Given the description of an element on the screen output the (x, y) to click on. 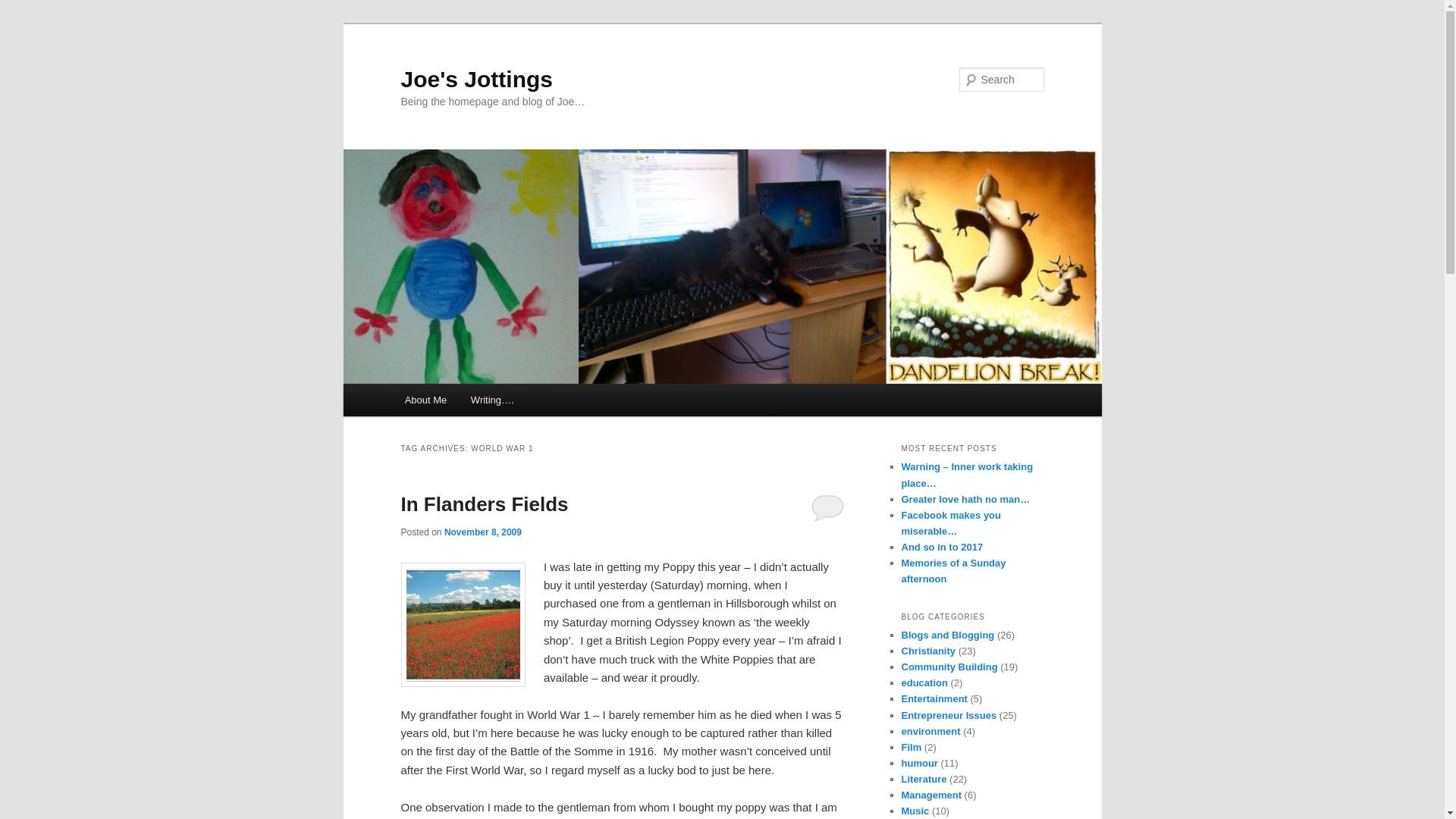
education (924, 682)
Christianity (928, 650)
Blogs and Blogging (947, 634)
Memories of a Sunday afternoon (953, 570)
About Me (425, 400)
Entertainment (933, 698)
In Flanders Fields (483, 504)
9:18 am (482, 532)
Entrepreneur Issues (948, 715)
And so in to 2017 (941, 546)
Community Building (949, 666)
poppies (462, 624)
Search (24, 8)
Literature (923, 778)
humour (919, 763)
